Given the description of an element on the screen output the (x, y) to click on. 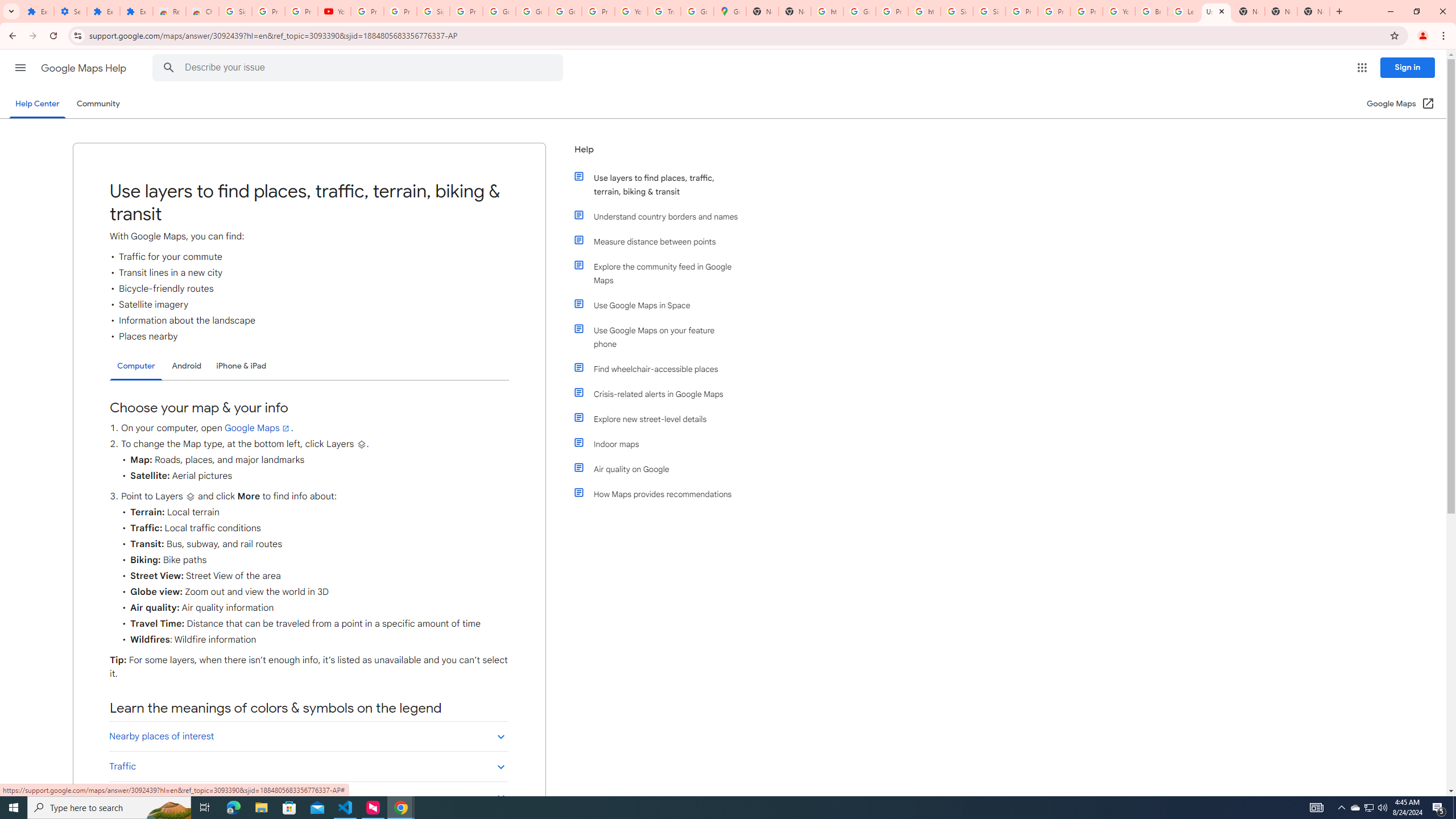
Privacy Help Center - Policies Help (1021, 11)
https://scholar.google.com/ (827, 11)
Explore new street-level details (661, 419)
Layers (189, 496)
Google Maps (Open in a new window) (1400, 103)
Sign in - Google Accounts (957, 11)
Understand country borders and names (661, 216)
